Given the description of an element on the screen output the (x, y) to click on. 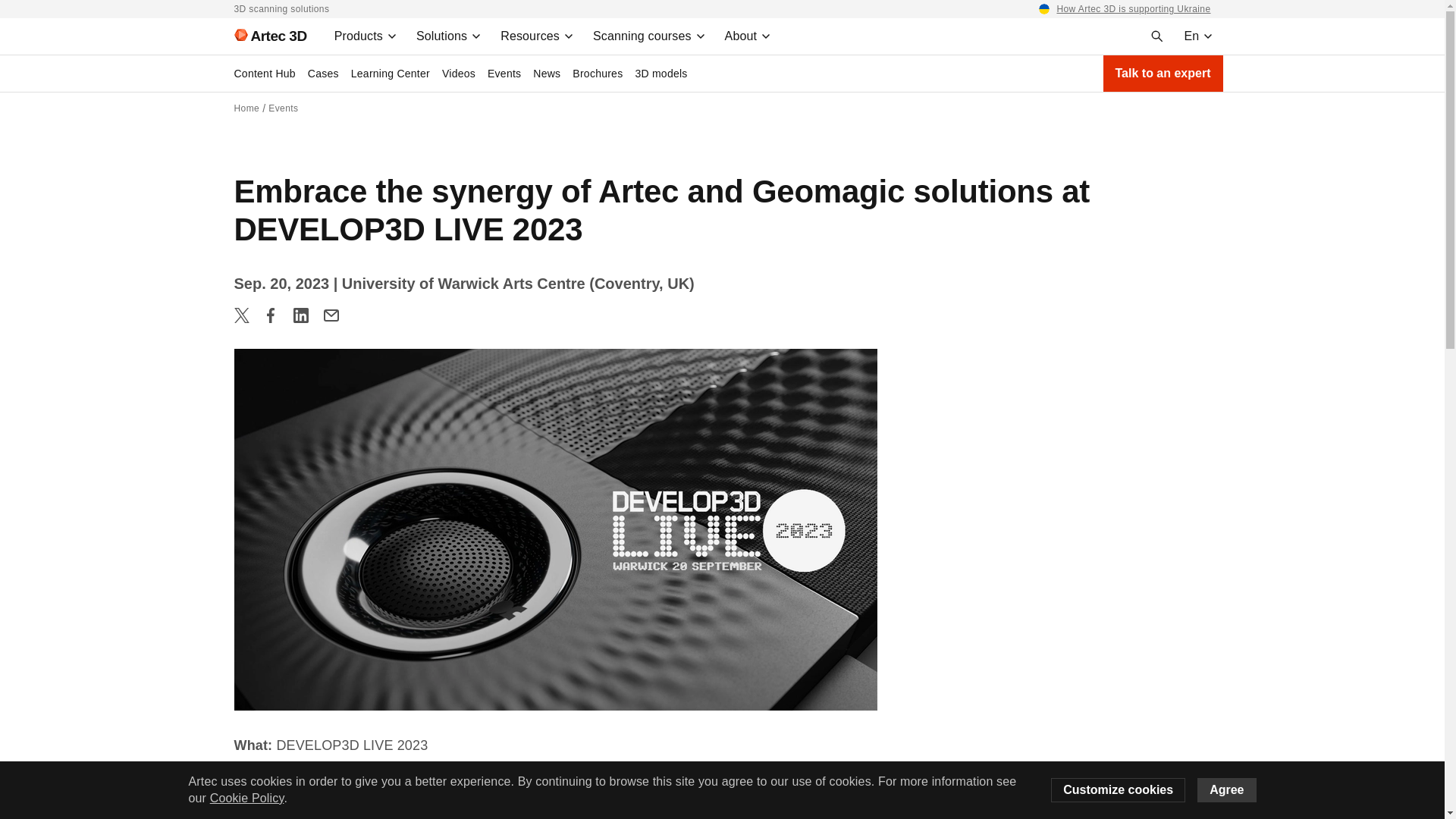
Events (282, 108)
Cookie Policy (246, 797)
Home (245, 108)
Products (365, 36)
Artec 3D (263, 36)
Solutions (449, 36)
